Given the description of an element on the screen output the (x, y) to click on. 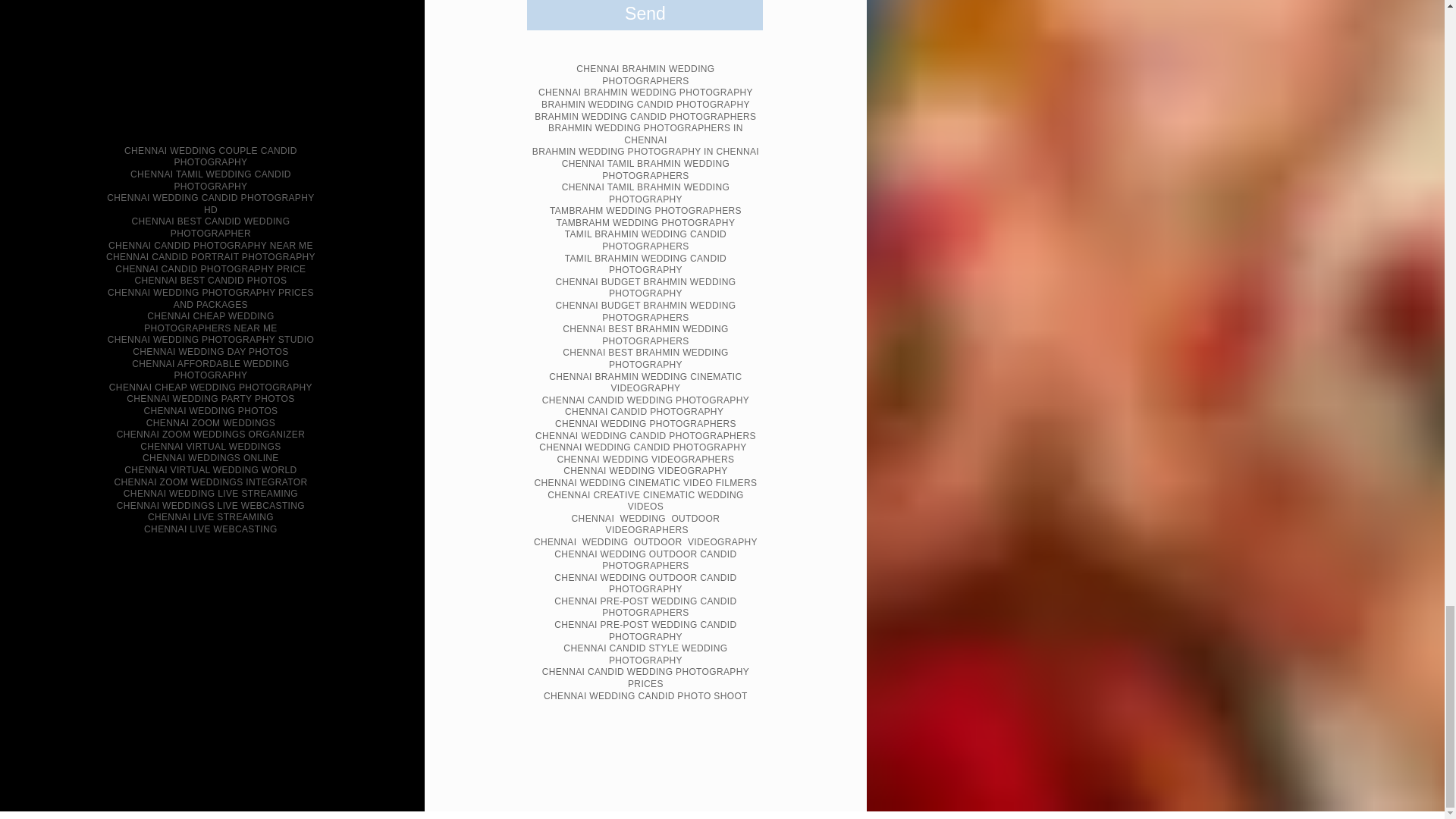
Send (644, 15)
Google Maps (210, 63)
